Given the description of an element on the screen output the (x, y) to click on. 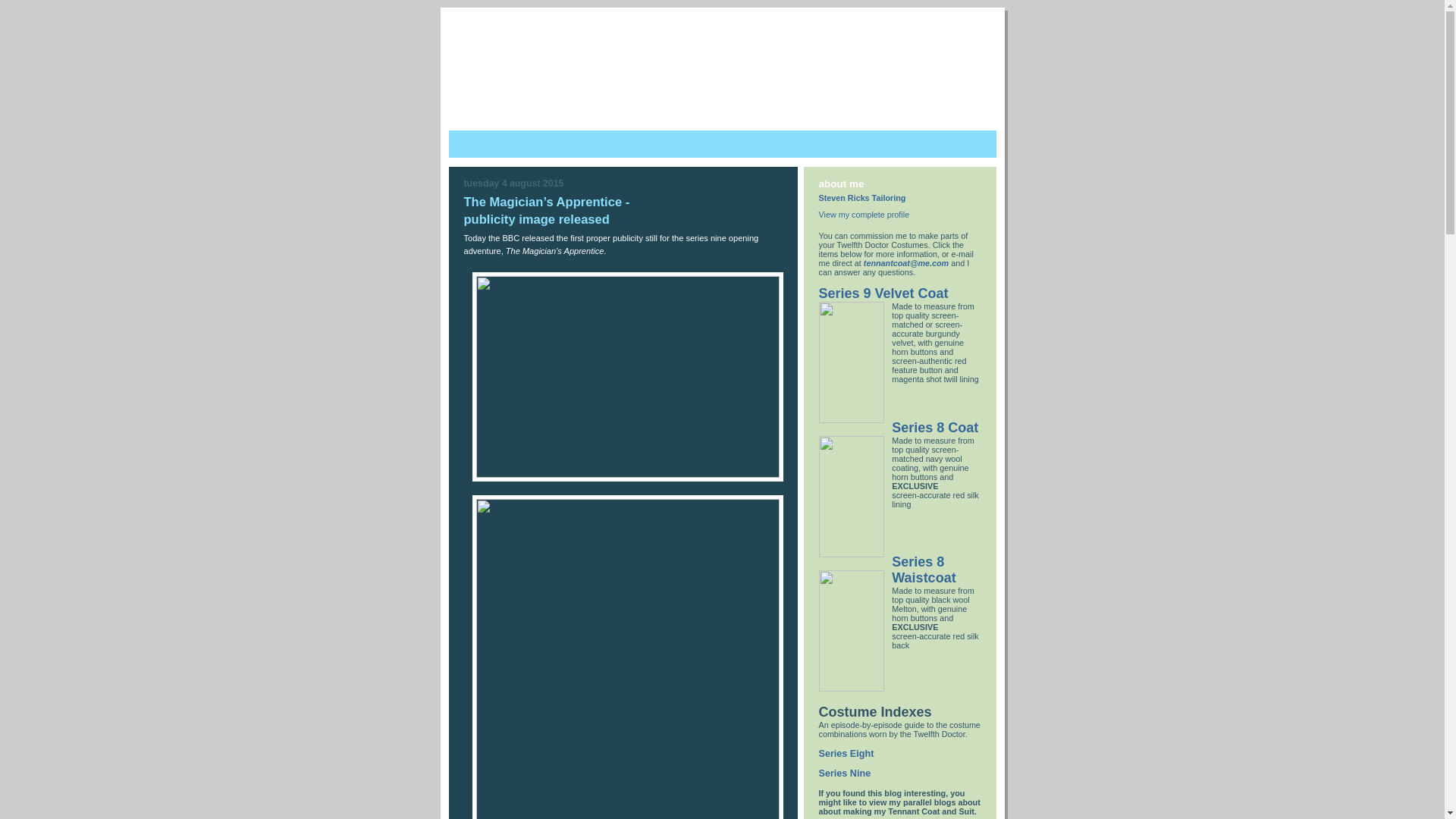
View my complete profile Element type: text (864, 214)
Series 8 Waistcoat Element type: text (923, 569)
Series Eight Element type: text (846, 753)
Series 8 Coat Element type: text (934, 427)
tennantcoat@me.com Element type: text (905, 262)
Series 9 Velvet Coat Element type: text (883, 293)
Steven Ricks Tailoring Element type: text (862, 197)
Series Nine Element type: text (845, 773)
making my 12th doctor costume Element type: text (777, 84)
